Given the description of an element on the screen output the (x, y) to click on. 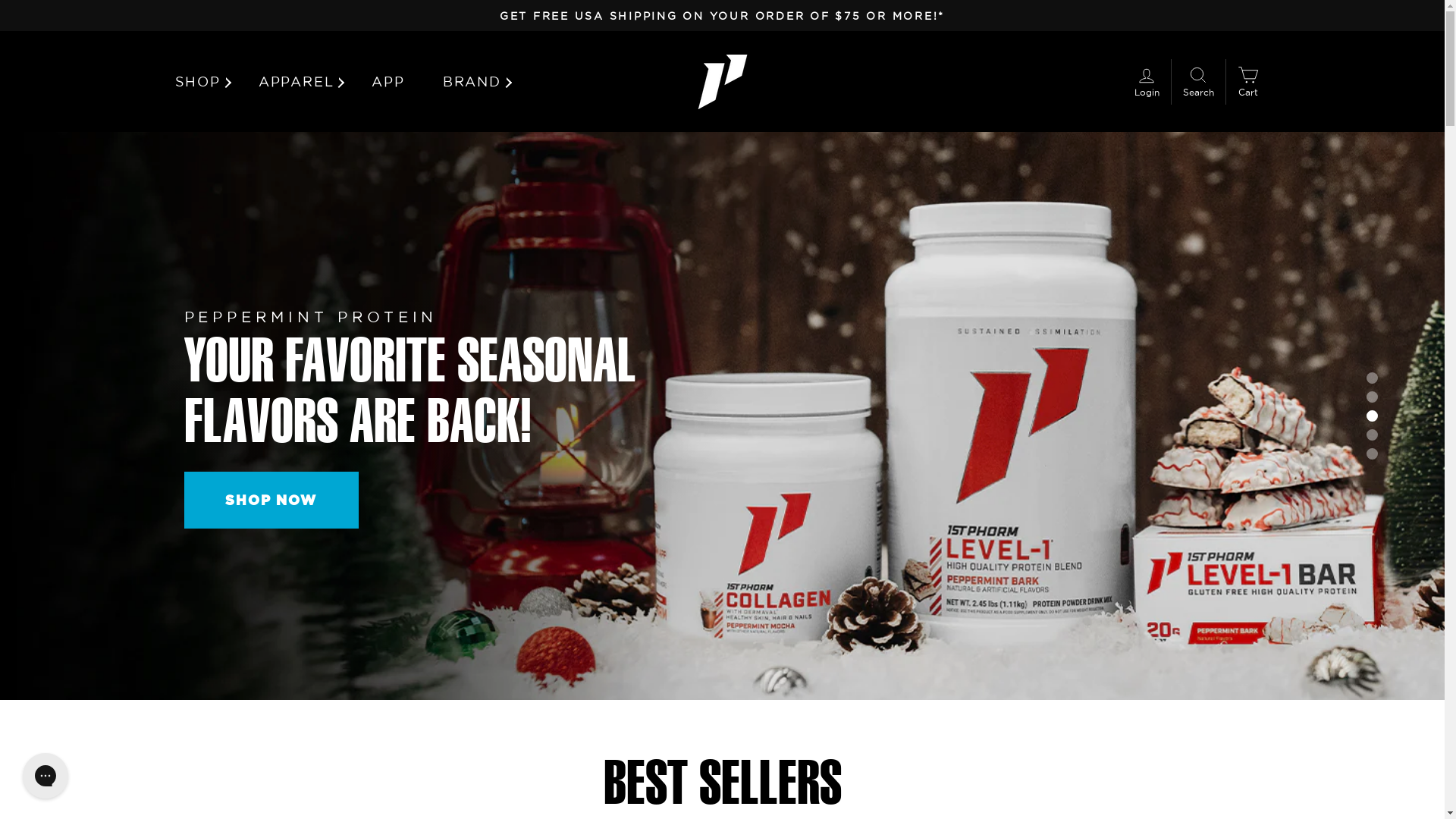
BRAND Element type: text (471, 81)
APP Element type: text (387, 81)
SEARCH
Search Element type: text (1197, 81)
LOG IN
Login Element type: text (1146, 81)
CART
Cart Element type: text (1247, 81)
Gorgias live chat messenger Element type: hover (45, 775)
APPAREL Element type: text (296, 81)
SHOP Element type: text (206, 81)
